Given the description of an element on the screen output the (x, y) to click on. 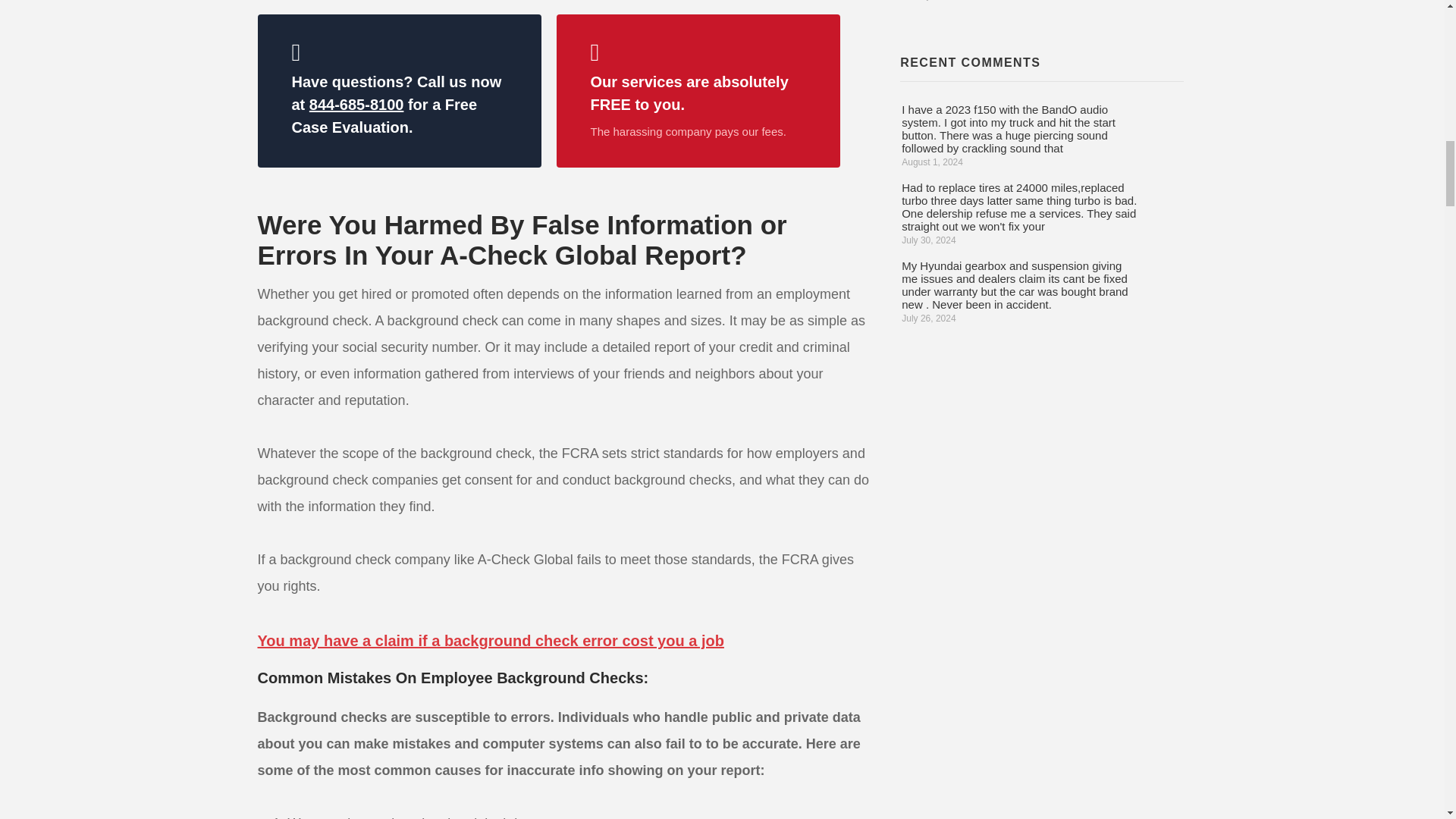
844-685-8100 (356, 104)
